Given the description of an element on the screen output the (x, y) to click on. 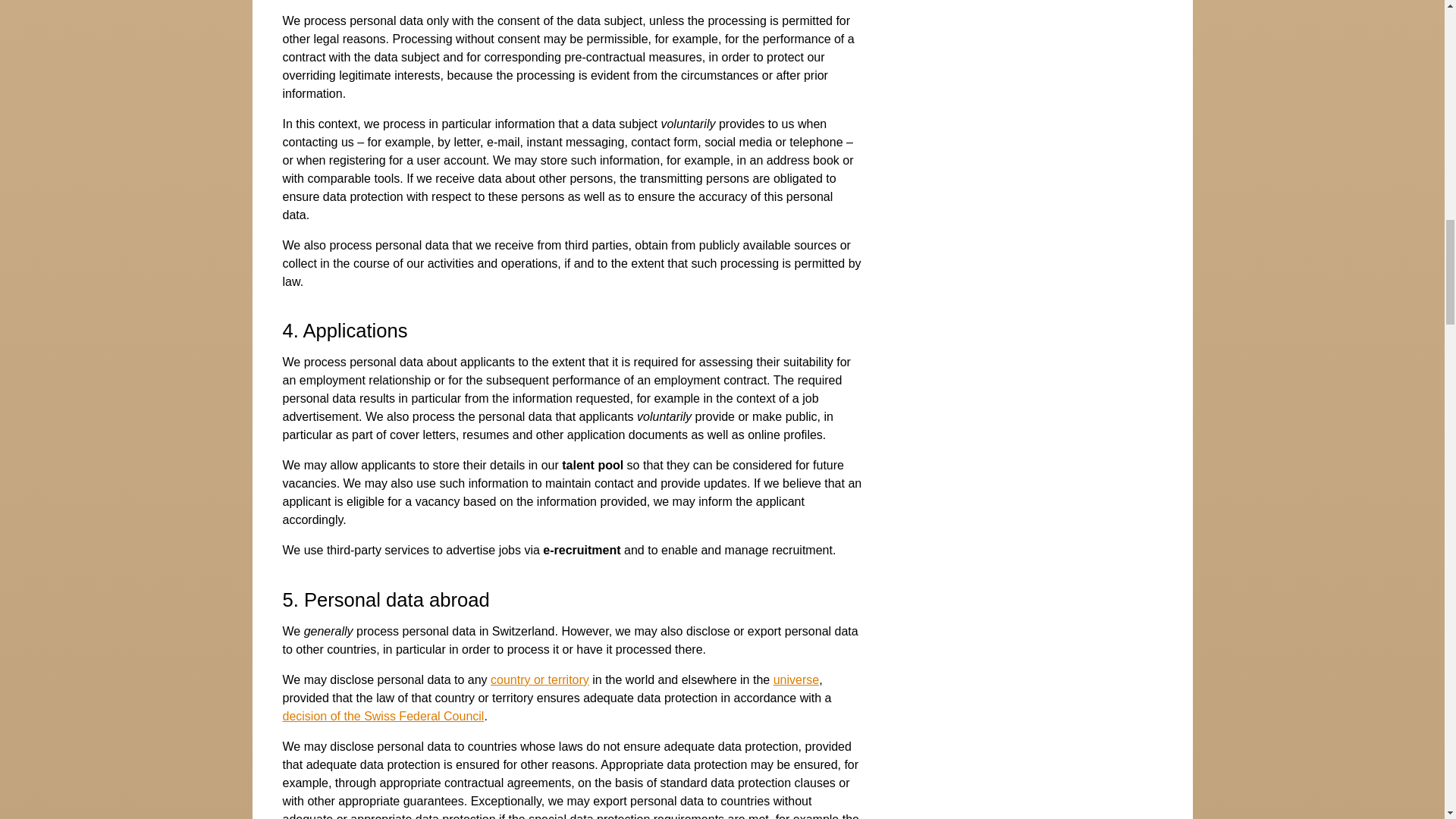
decision of the Swiss Federal Council (382, 716)
universe (795, 679)
country or territory (539, 679)
